Given the description of an element on the screen output the (x, y) to click on. 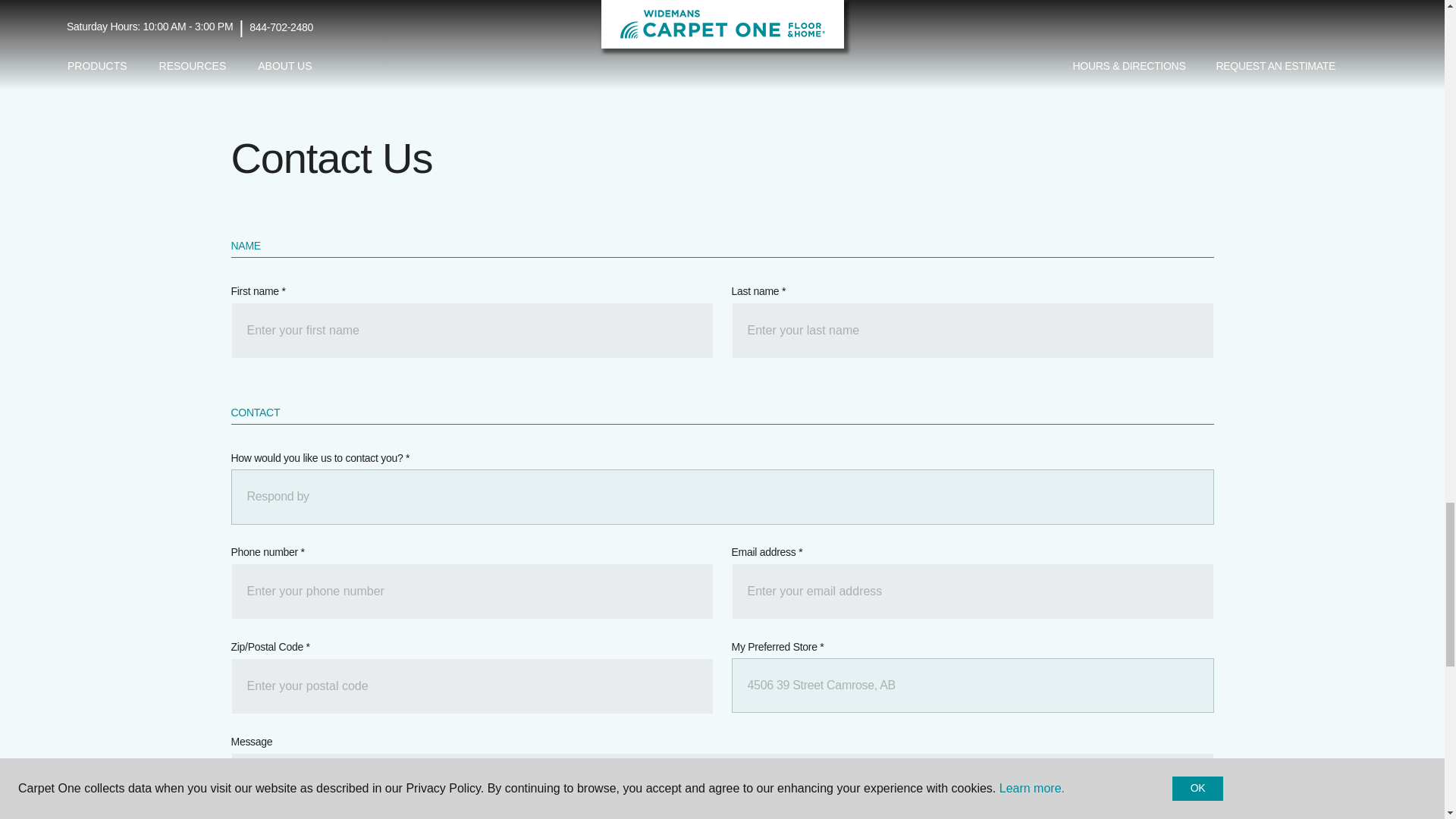
PostalCode (471, 686)
FirstName (471, 330)
MyMessage (721, 785)
EmailAddress (971, 591)
CleanHomePhone (471, 591)
LastName (971, 330)
